Given the description of an element on the screen output the (x, y) to click on. 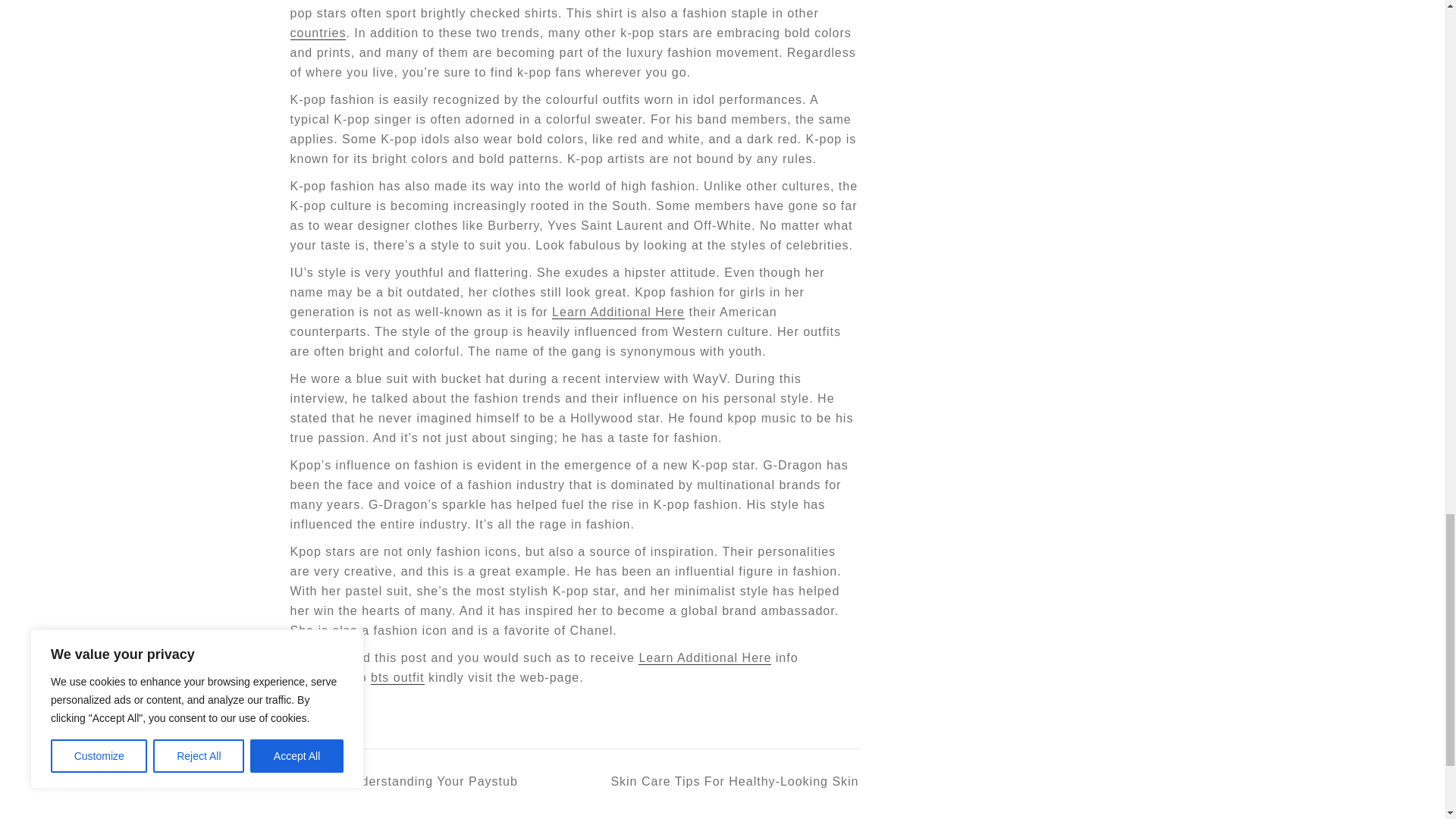
countries (317, 33)
bts outfit (397, 677)
Skin Care Tips For Healthy-Looking Skin (717, 781)
Learn Additional Here (617, 312)
Tips For Understanding Your Paystub (402, 781)
Learn Additional Here (705, 658)
